Given the description of an element on the screen output the (x, y) to click on. 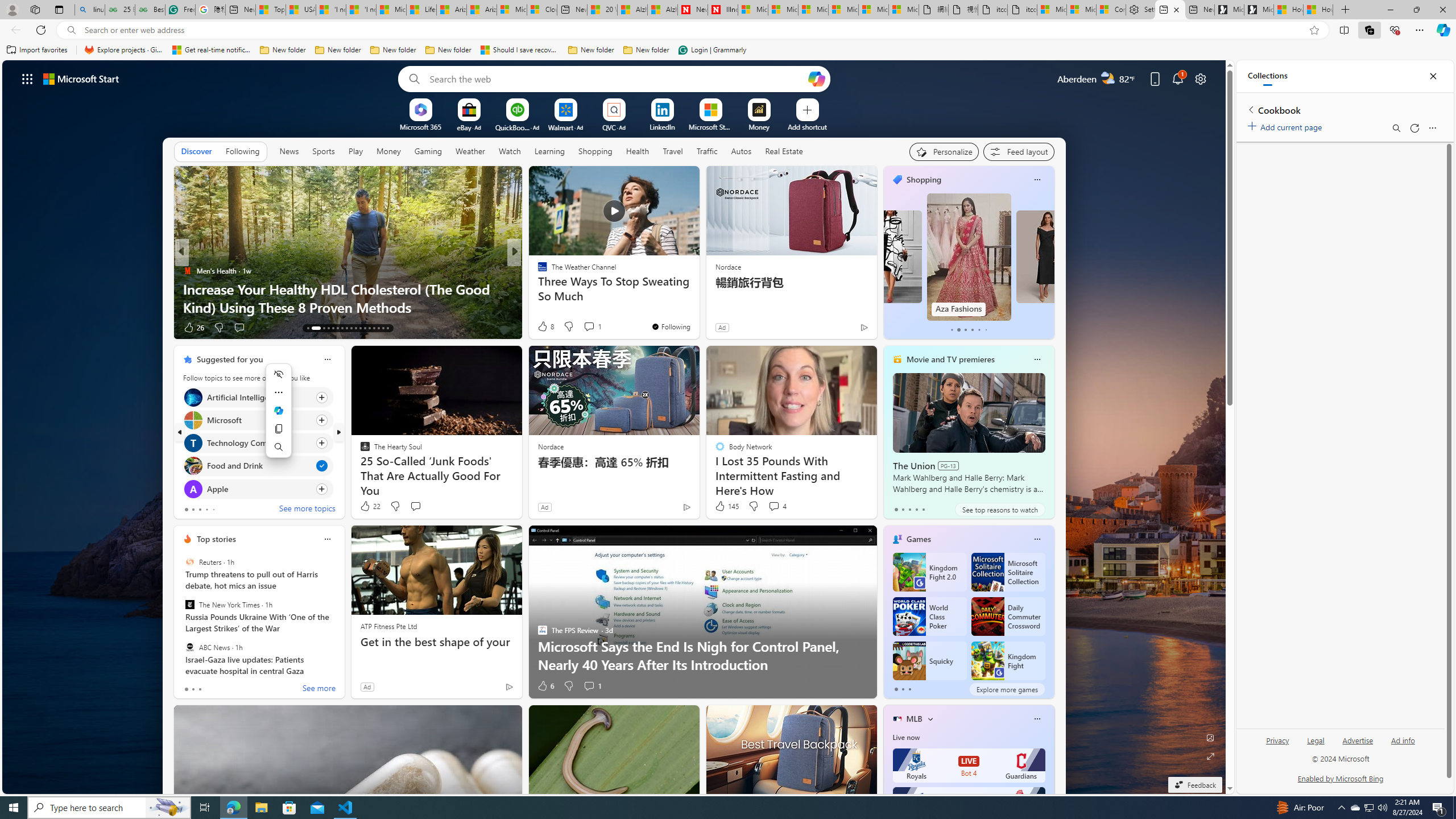
Sports (323, 151)
Top Stories - MSN (270, 9)
Should I save recovered Word documents? - Microsoft Support (519, 49)
Health (637, 151)
Personalize your feed" (943, 151)
Learning (549, 151)
itconcepthk.com/projector_solutions.mp4 (1022, 9)
ATP Fitness Pte Ltd (388, 625)
Royals LIVE Bot 4 Guardians (968, 765)
Back to list of collections (1250, 109)
